Given the description of an element on the screen output the (x, y) to click on. 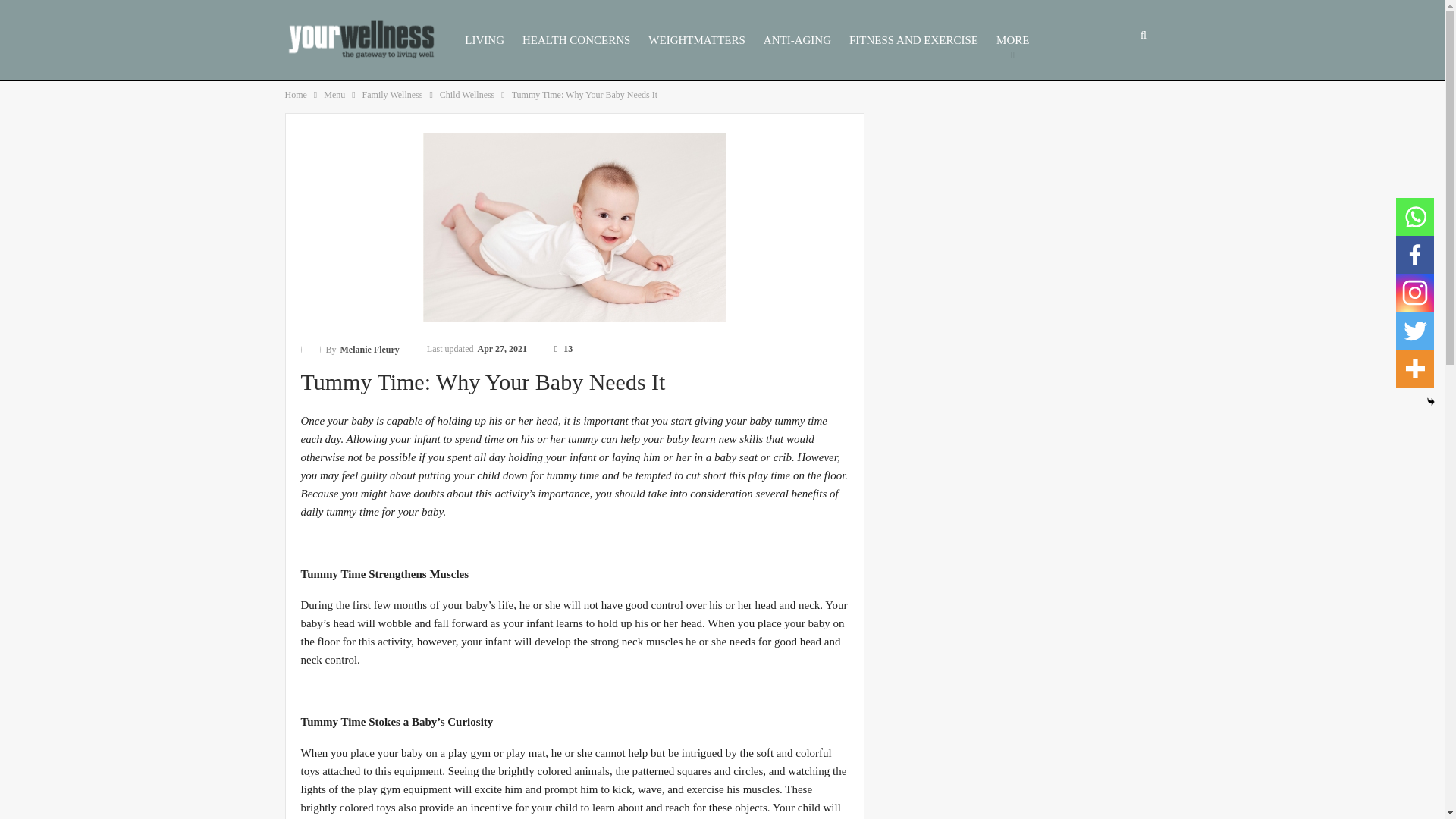
WEIGHTMATTERS (697, 40)
ANTI-AGING (796, 40)
Browse Author Articles (348, 349)
Facebook (1415, 254)
Family Wellness (392, 94)
LIVING (484, 40)
Hide (1431, 401)
Instagram (1415, 292)
Twitter (1415, 330)
More (1415, 368)
